Given the description of an element on the screen output the (x, y) to click on. 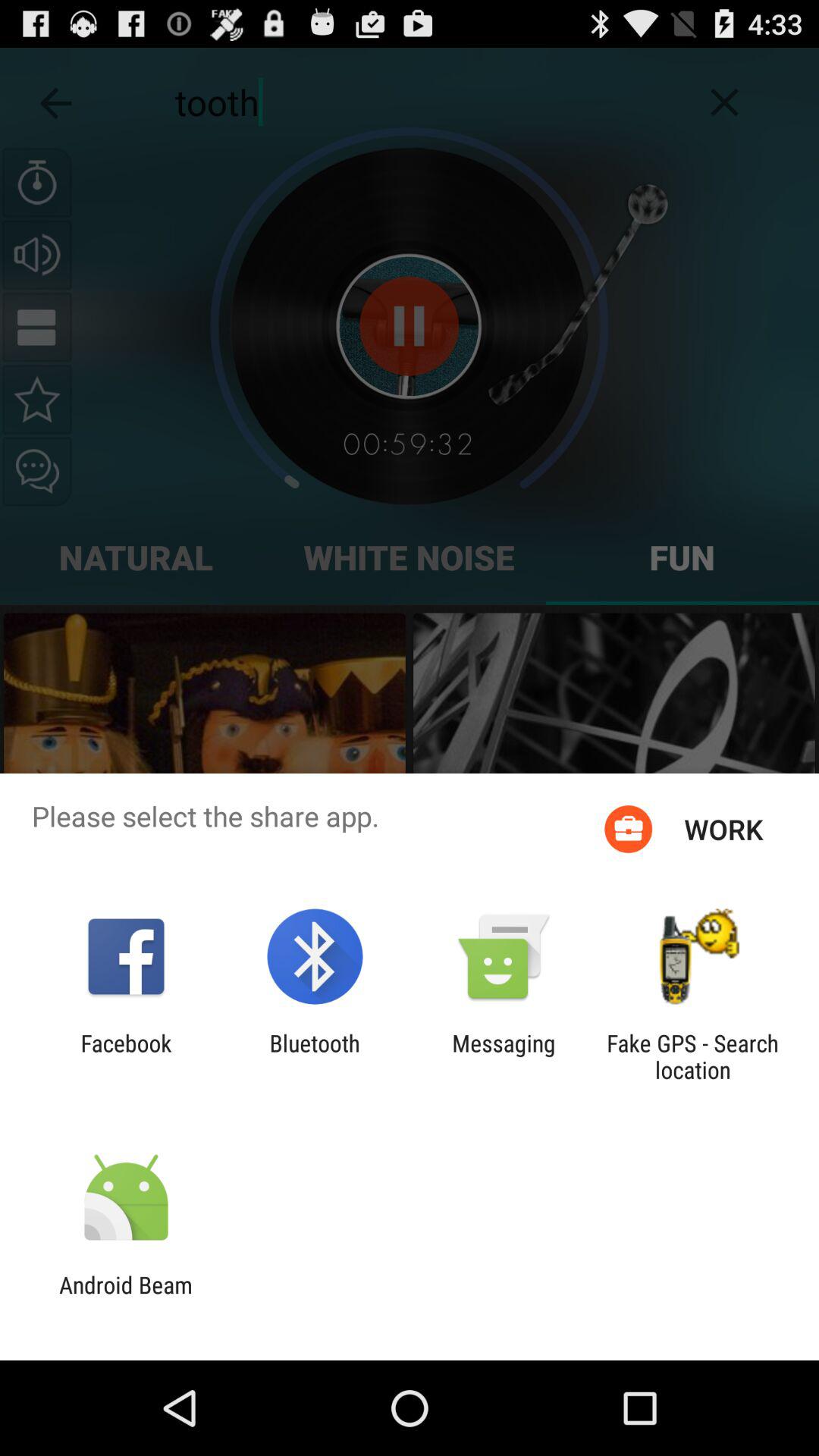
jump to fake gps search app (692, 1056)
